Given the description of an element on the screen output the (x, y) to click on. 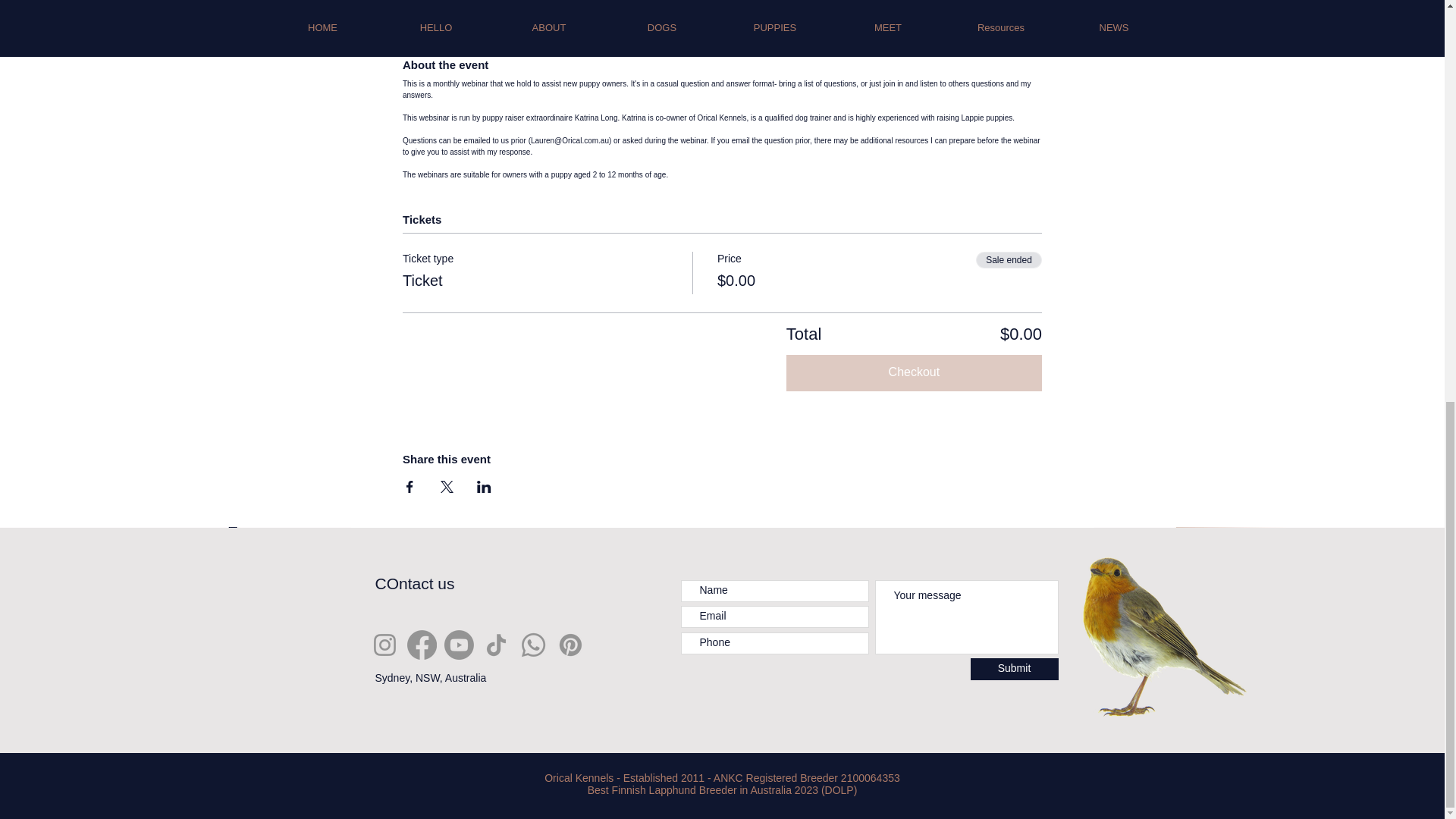
Submit (1014, 669)
Checkout (914, 372)
Sydney, NSW, Australia (430, 677)
